Given the description of an element on the screen output the (x, y) to click on. 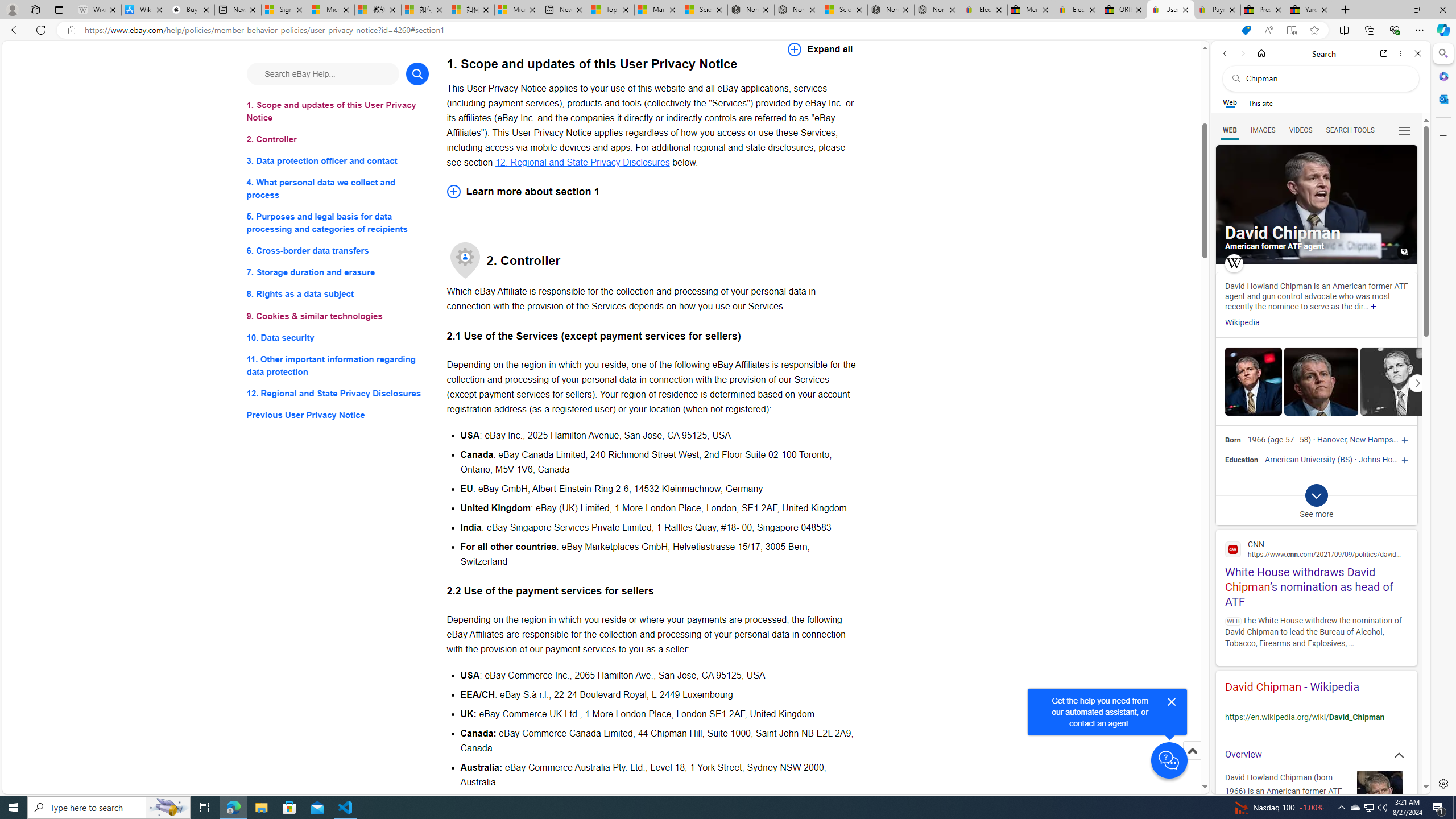
Press Room - eBay Inc. (1263, 9)
Search Filter, VIDEOS (1300, 129)
Overview (1315, 755)
Search Filter, Search Tools (1350, 129)
All images (1315, 204)
Microsoft Services Agreement (330, 9)
1. Scope and updates of this User Privacy Notice (337, 111)
9. Cookies & similar technologies (337, 315)
Top Stories - MSN (610, 9)
